Given the description of an element on the screen output the (x, y) to click on. 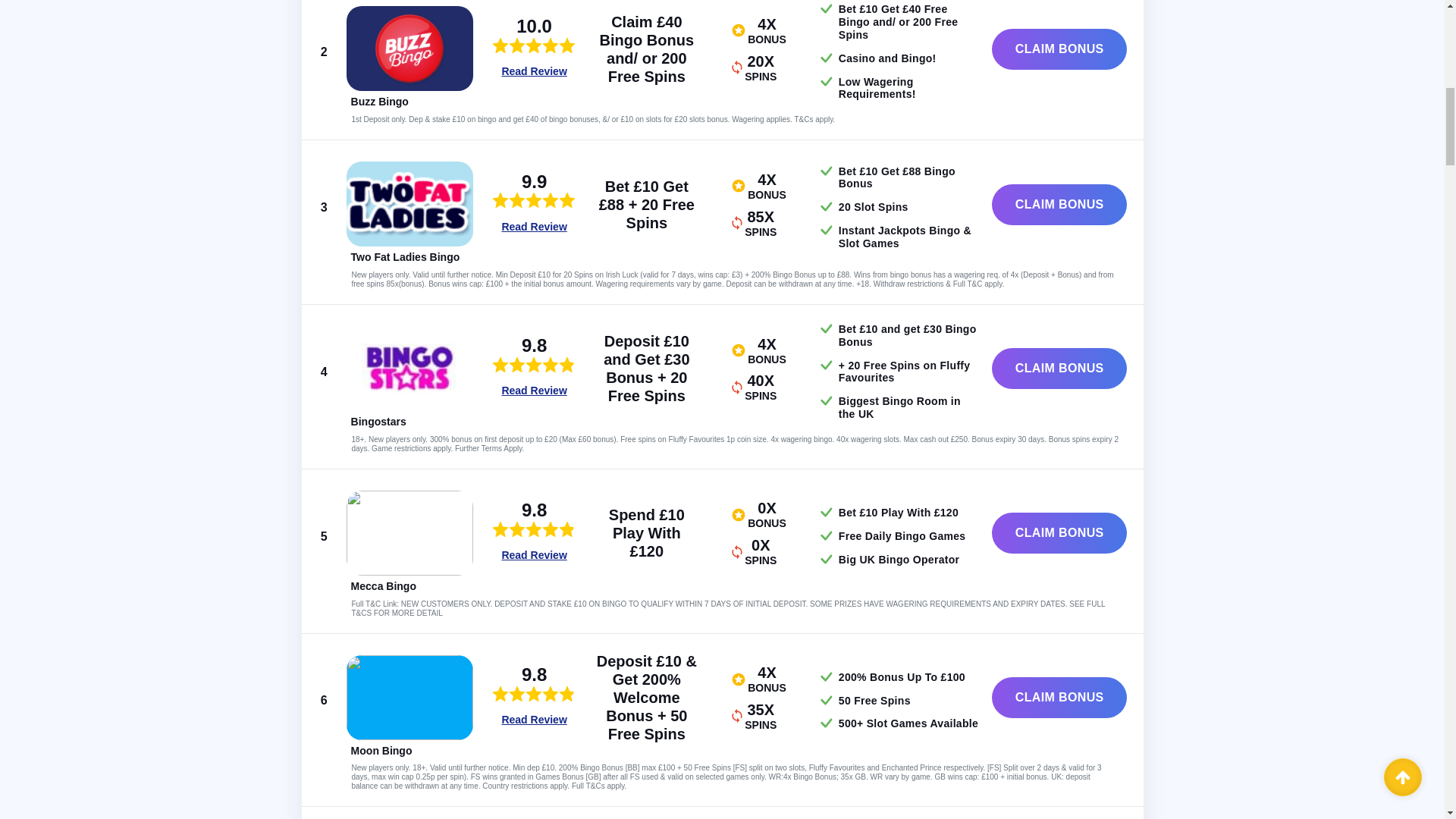
Two Fat Ladies Bingo (409, 203)
Read Review (533, 71)
Bingostars (378, 421)
Read Review (533, 226)
Two Fat Ladies Bingo (405, 256)
Moon Bingo (409, 697)
CLAIM BONUS (1058, 204)
Mecca Bingo (409, 532)
Moon Bingo (381, 750)
Buzz Bingo (379, 101)
Two Fat Ladies Bingo (405, 256)
CLAIM BONUS (1058, 48)
Bingostars (409, 368)
Mecca Bingo (383, 585)
Buzz Bingo (409, 47)
